Given the description of an element on the screen output the (x, y) to click on. 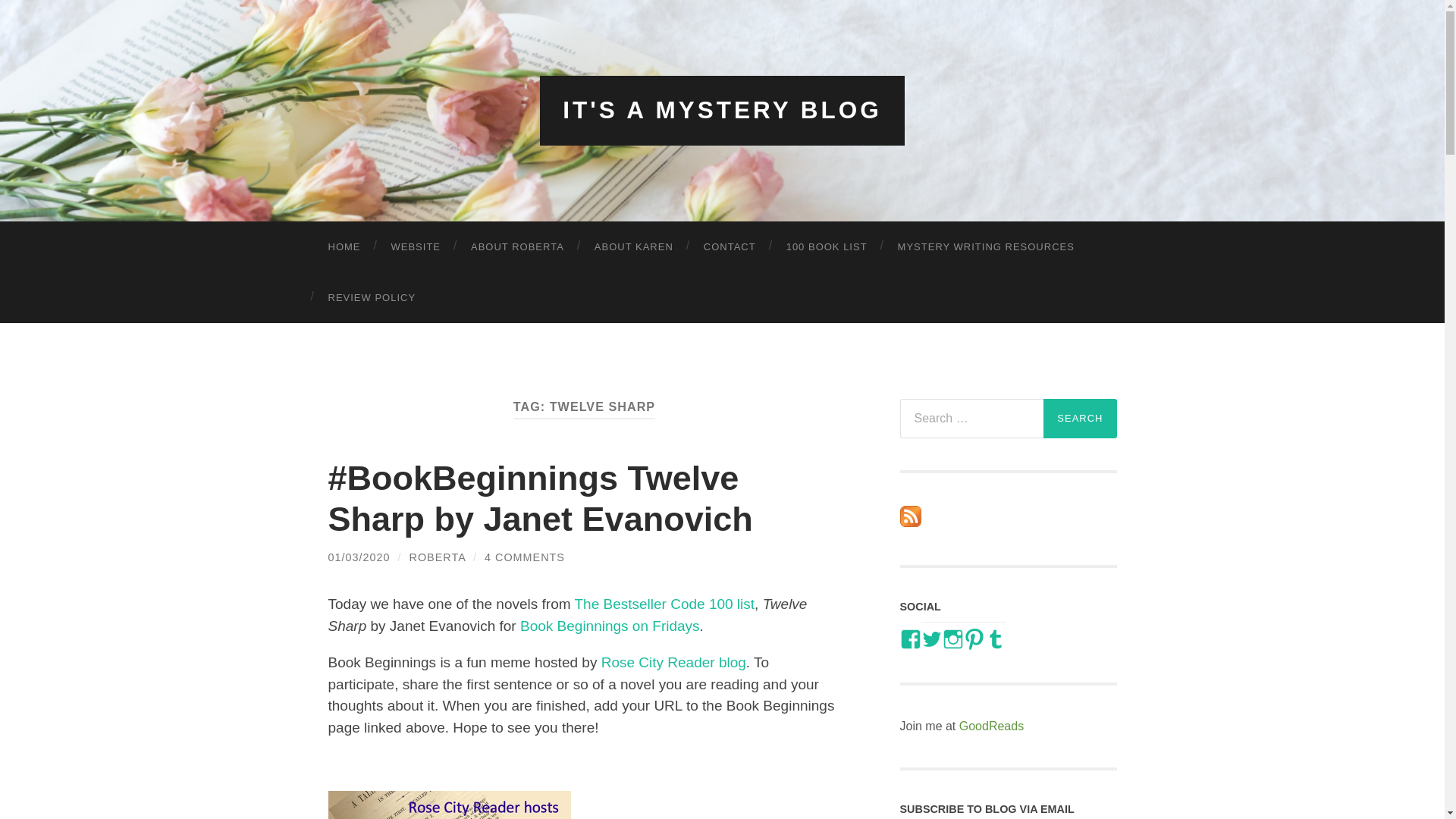
GoodReads (991, 725)
Rose City Reader blog (673, 662)
100 BOOK LIST (826, 246)
Search (1079, 418)
REVIEW POLICY (371, 296)
Pinterest (973, 639)
CONTACT (729, 246)
ABOUT KAREN (633, 246)
Subscribe to posts (909, 522)
The Bestseller Code 100 list (663, 603)
